Given the description of an element on the screen output the (x, y) to click on. 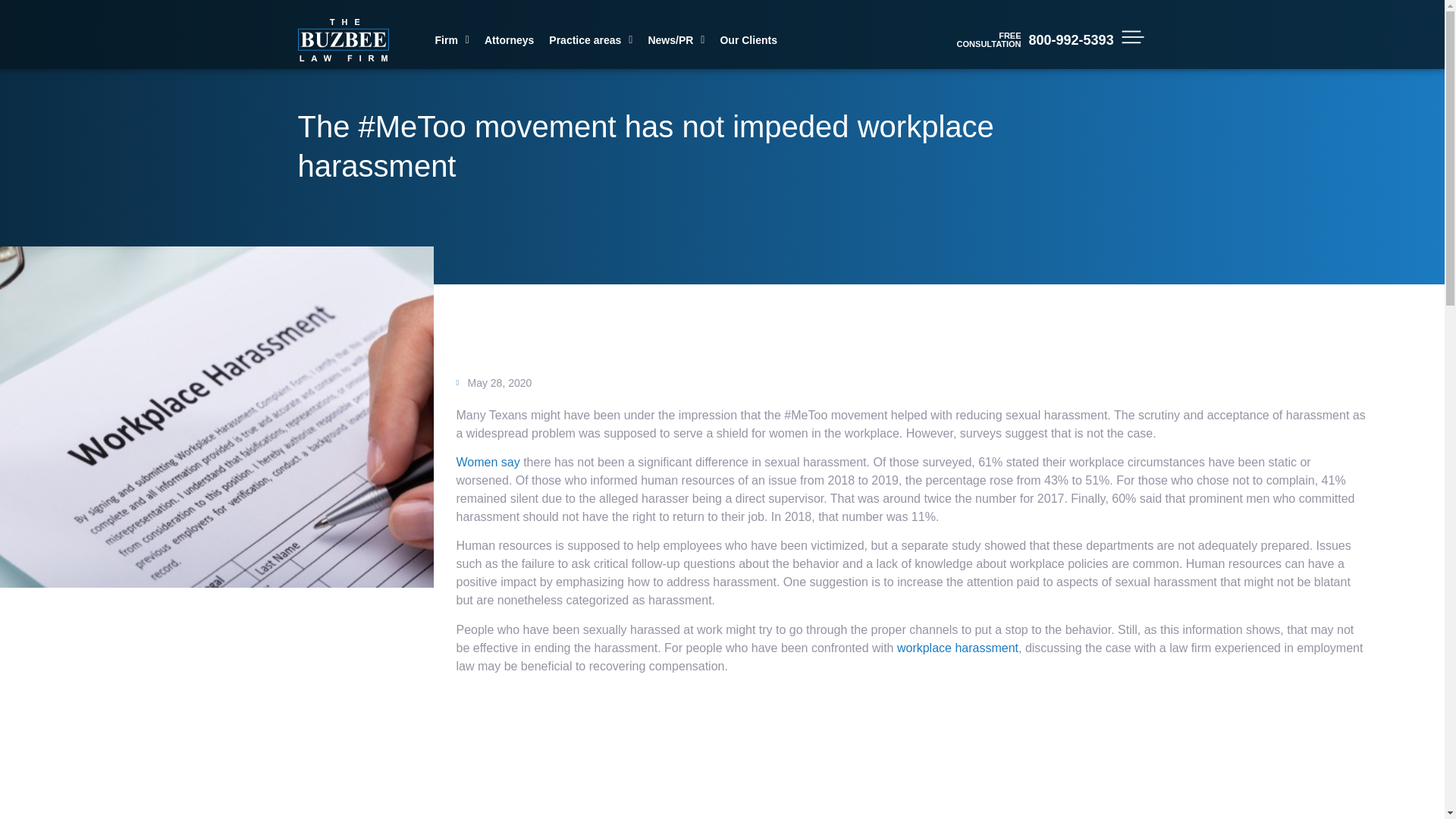
Practice areas (590, 40)
Attorneys (509, 40)
800-992-5393 (1071, 39)
Our Clients (747, 40)
Firm (452, 40)
